Given the description of an element on the screen output the (x, y) to click on. 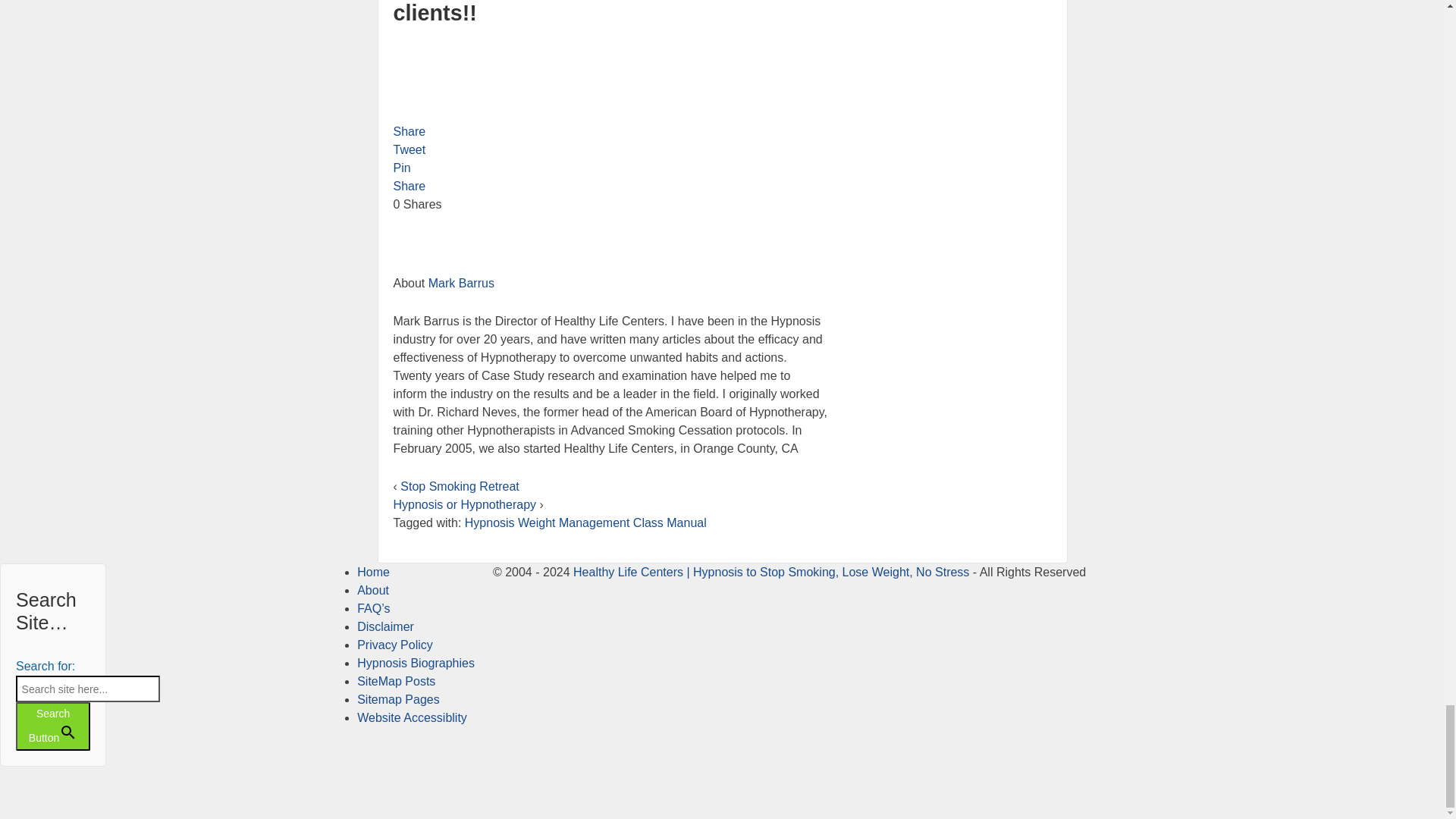
Posts by Mark Barrus (461, 282)
